Given the description of an element on the screen output the (x, y) to click on. 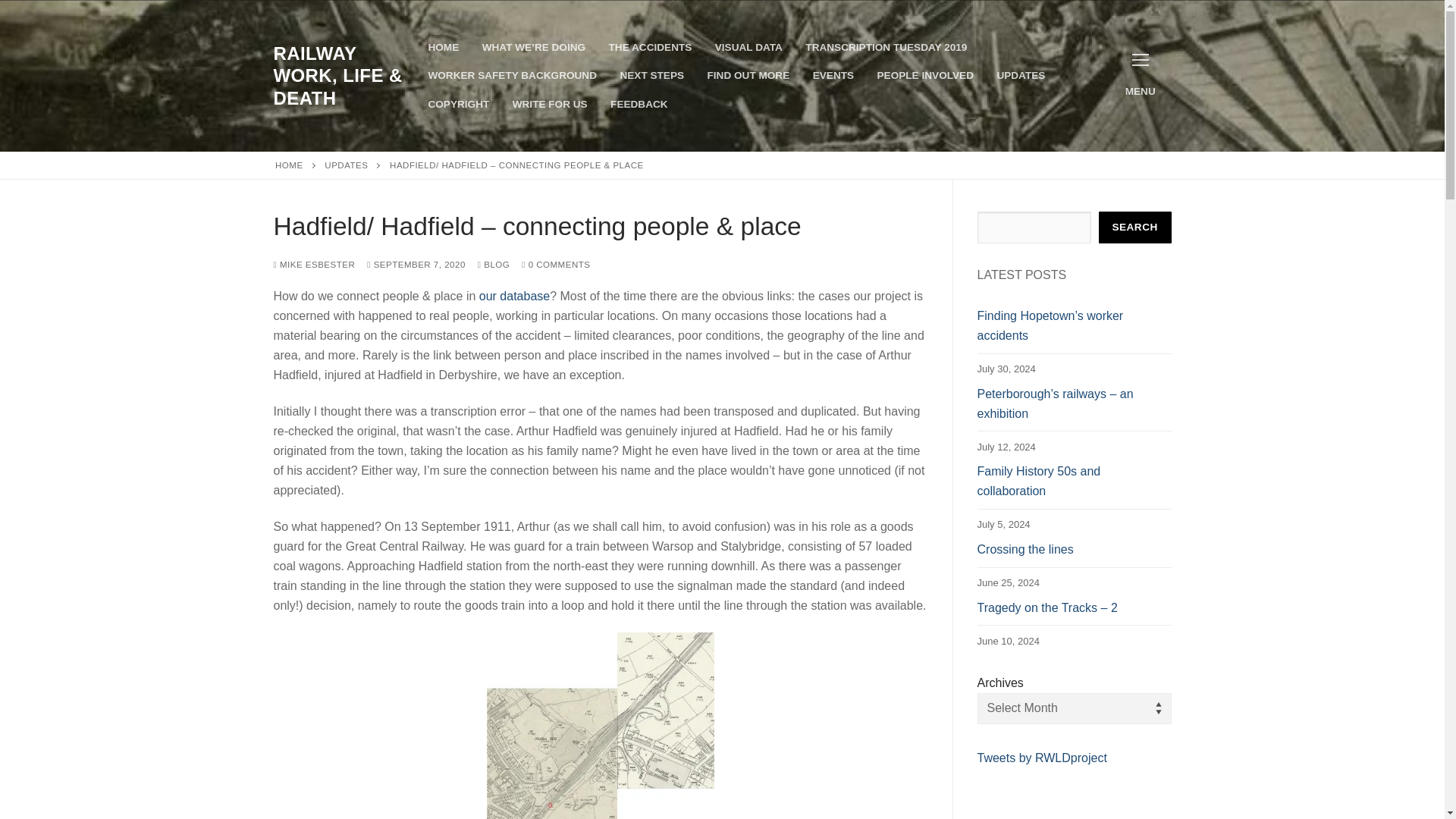
WORKER SAFETY BACKGROUND (512, 75)
FEEDBACK (638, 104)
VISUAL DATA (748, 47)
MENU (1140, 76)
PEOPLE INVOLVED (925, 75)
TRANSCRIPTION TUESDAY 2019 (885, 47)
SEPTEMBER 7, 2020 (415, 264)
NEXT STEPS (652, 75)
WRITE FOR US (549, 104)
our database (514, 295)
